Given the description of an element on the screen output the (x, y) to click on. 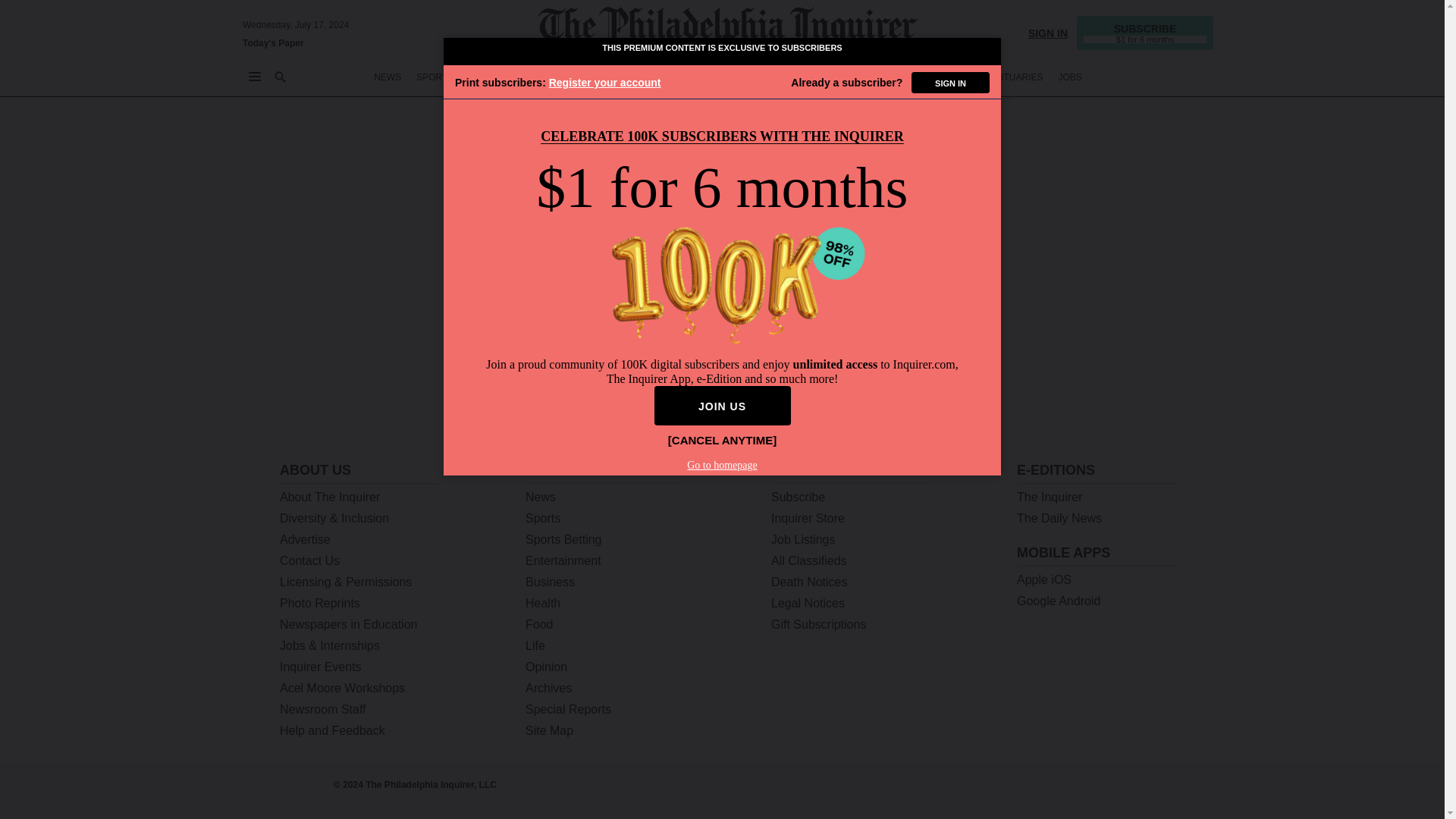
Facebook (1076, 790)
Instagram (1115, 790)
Twitter (1036, 790)
